Given the description of an element on the screen output the (x, y) to click on. 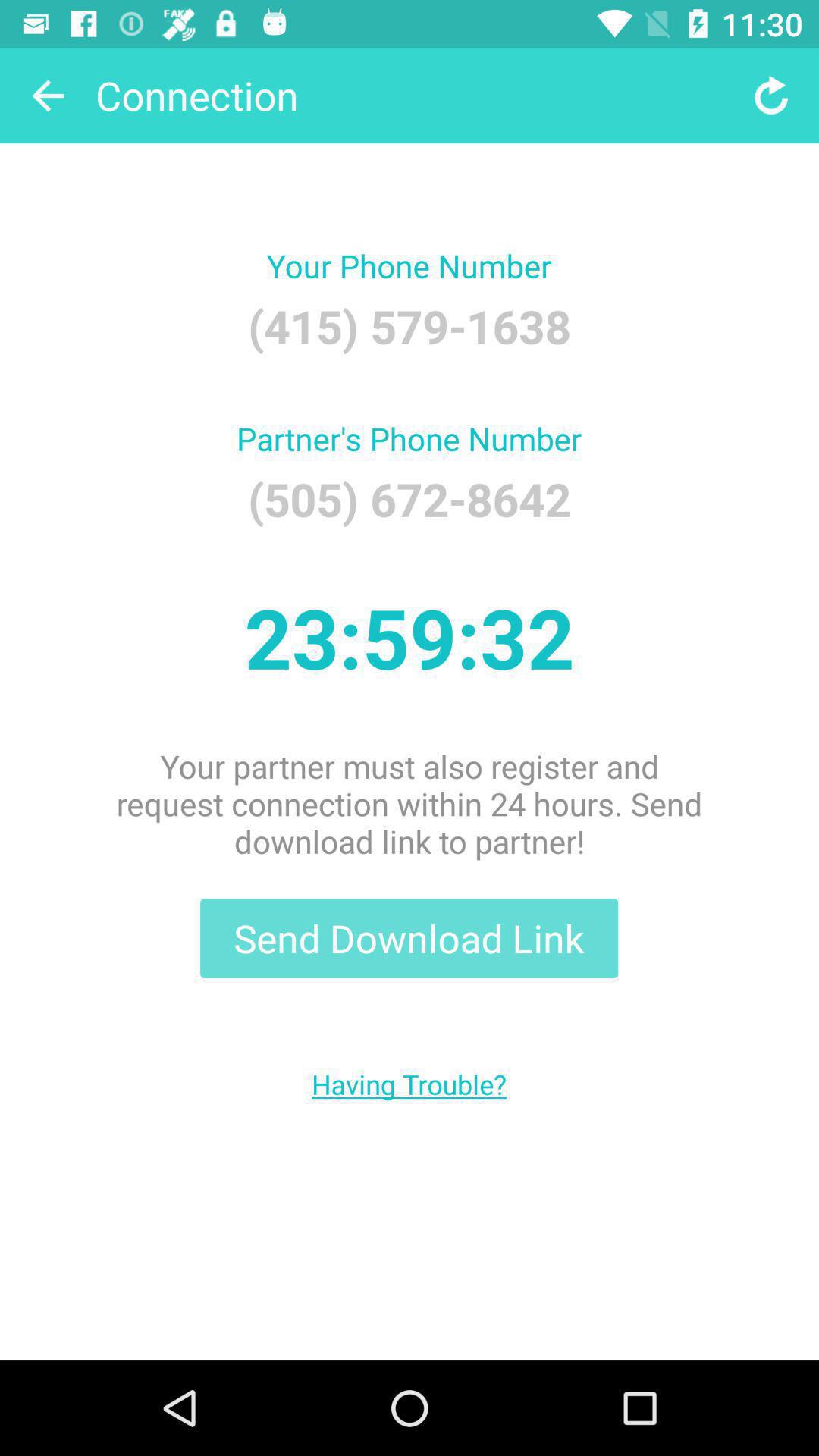
launch the icon to the right of connection item (771, 95)
